Given the description of an element on the screen output the (x, y) to click on. 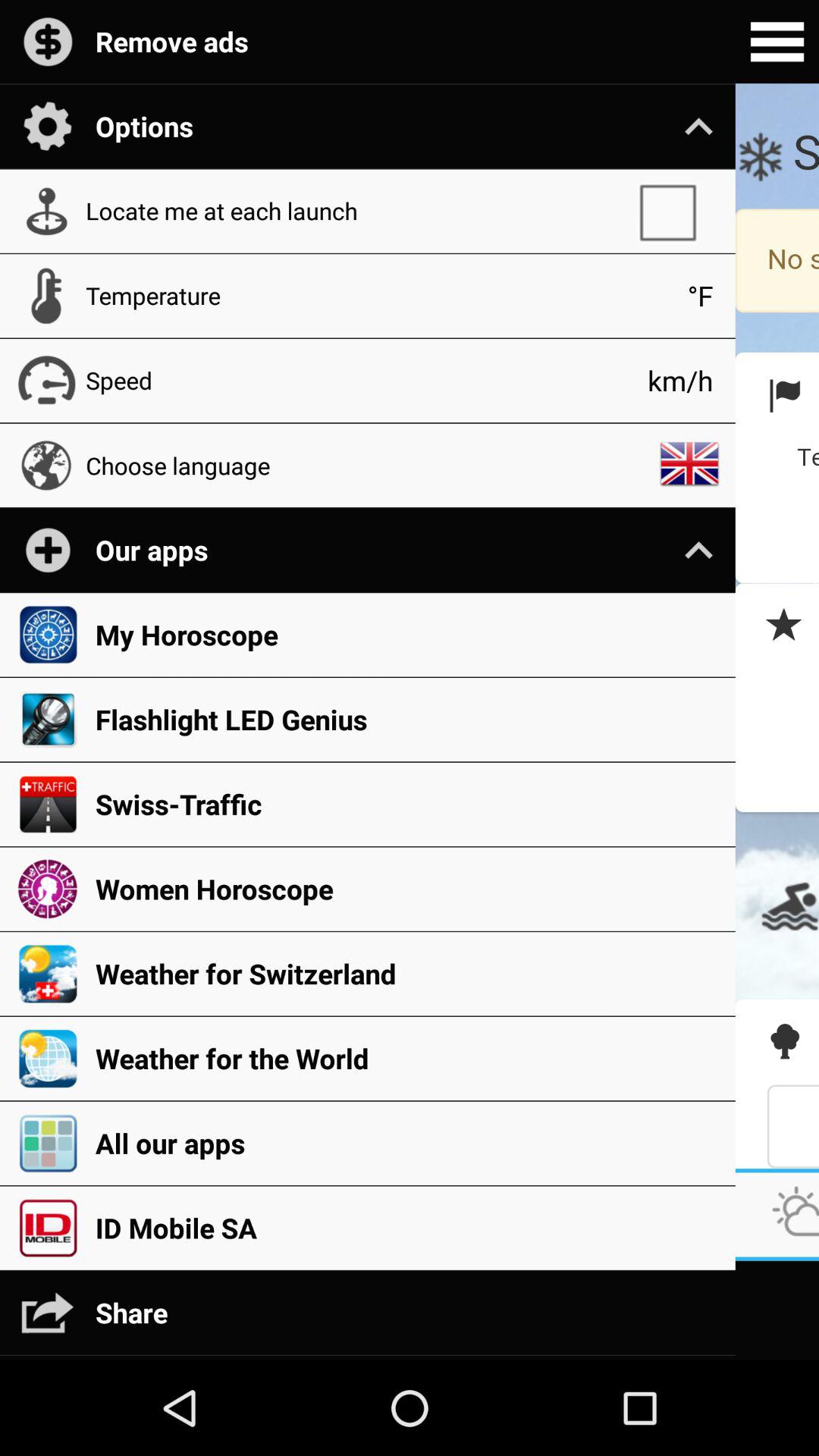
launch id mobile sa item (407, 1227)
